Given the description of an element on the screen output the (x, y) to click on. 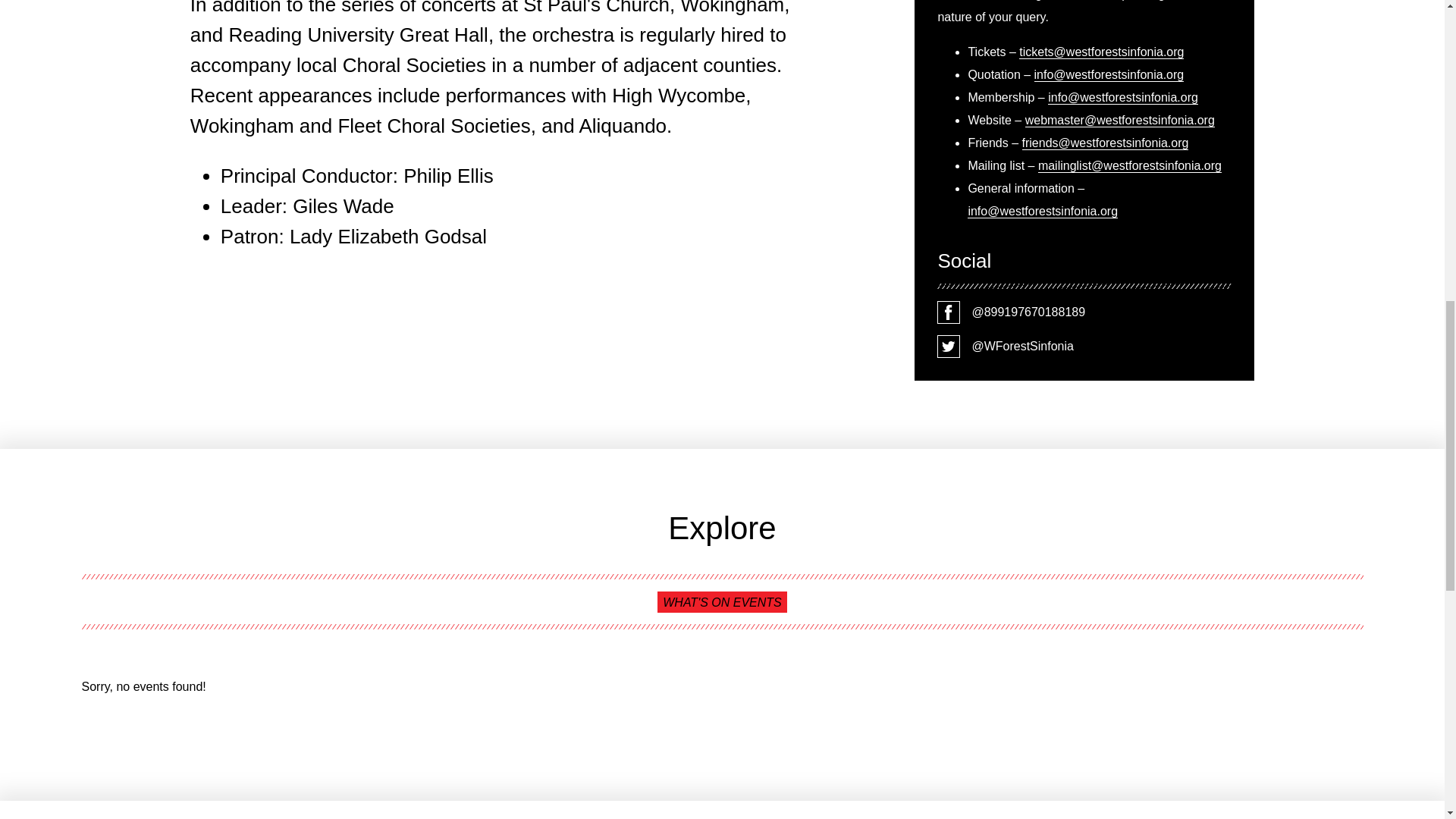
WHAT'S ON EVENTS (722, 601)
